Given the description of an element on the screen output the (x, y) to click on. 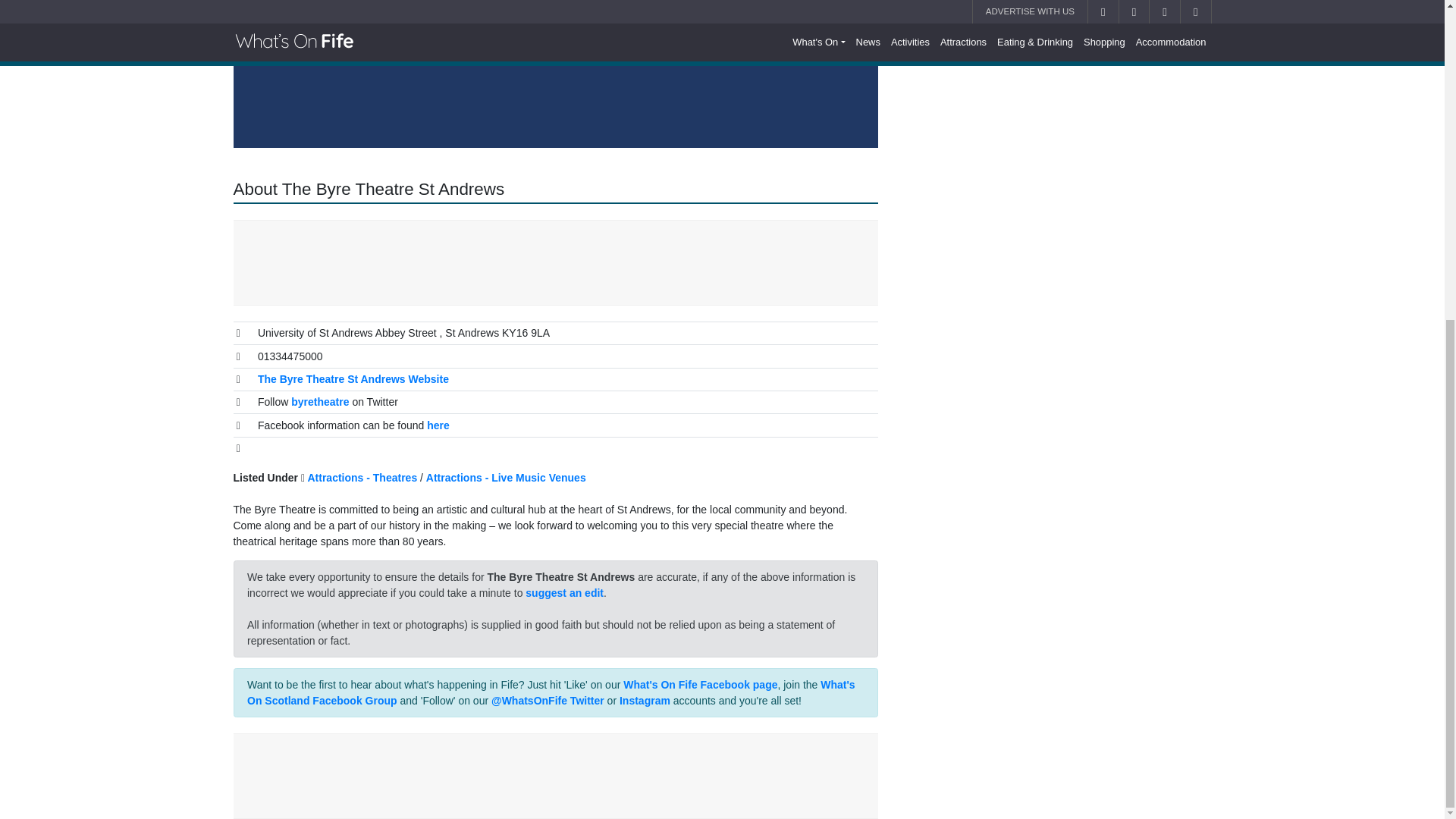
byretheatre (320, 401)
What's On Fife Facebook page (700, 684)
The Byre Theatre St Andrews Website (352, 378)
suggest an edit (564, 592)
Attractions - Live Music Venues (506, 477)
What's On Scotland Facebook Group (551, 692)
here (437, 425)
Attractions - Theatres (361, 477)
